Given the description of an element on the screen output the (x, y) to click on. 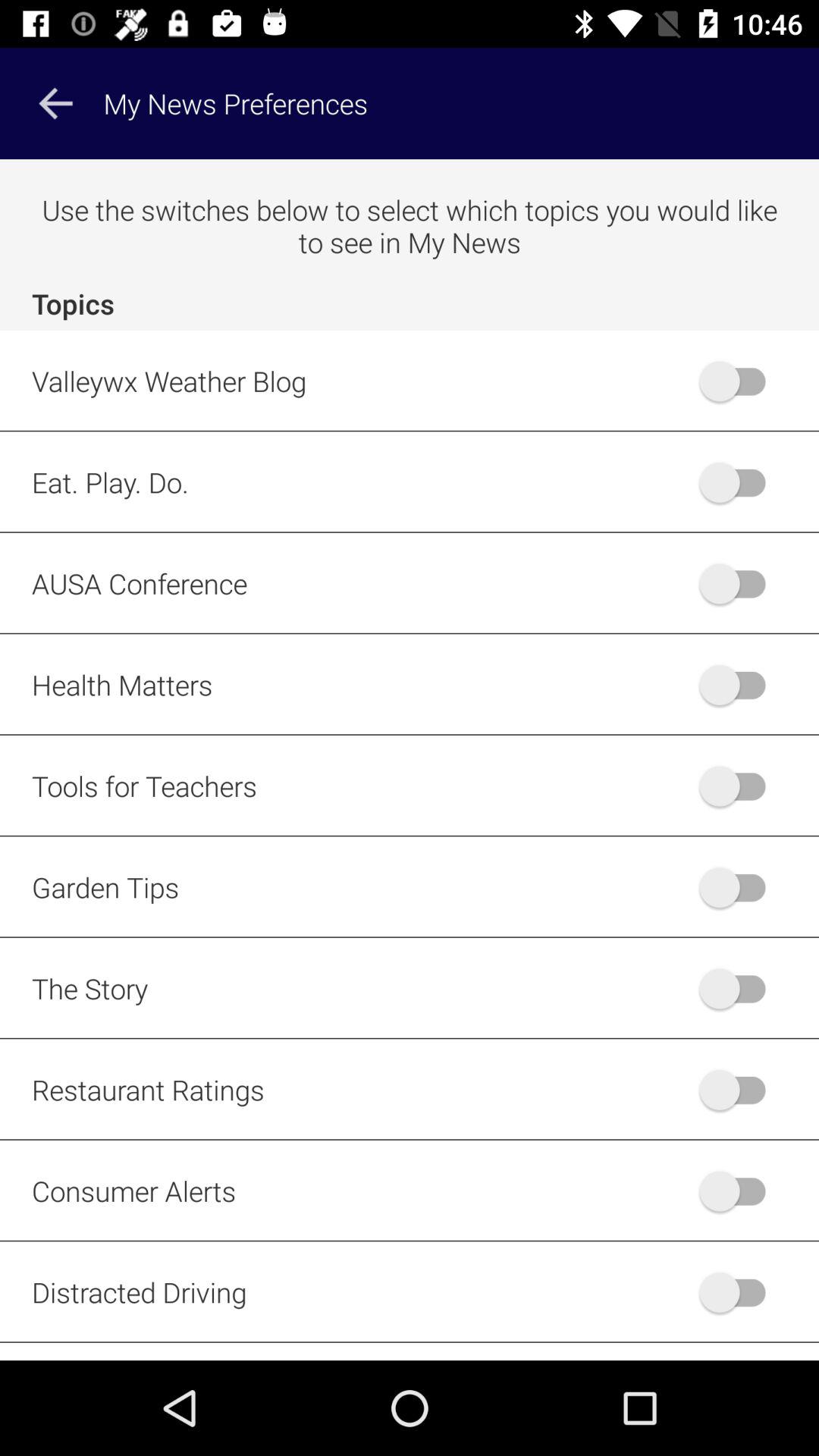
choose topic (739, 1291)
